Given the description of an element on the screen output the (x, y) to click on. 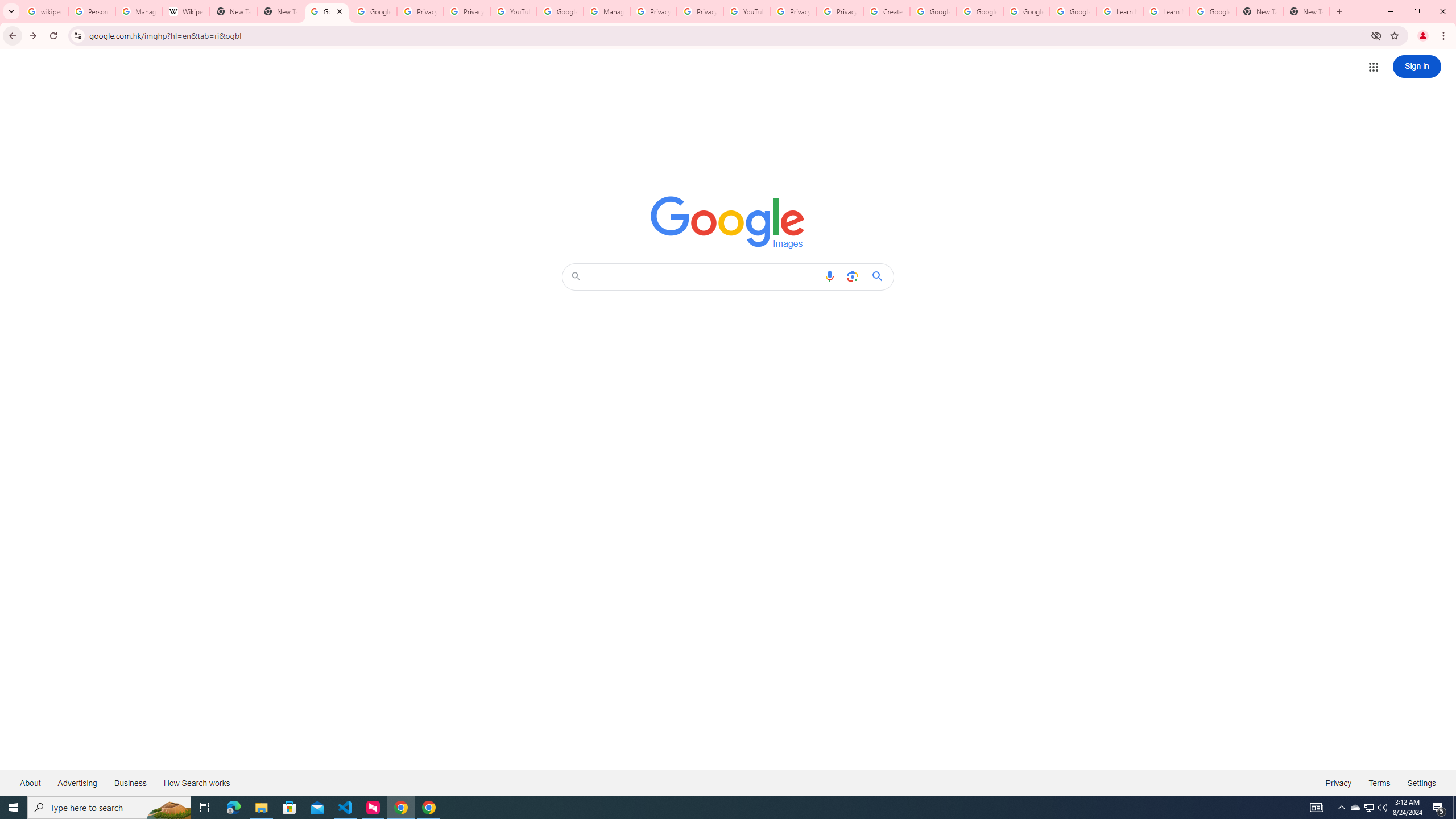
How Search works (196, 782)
Business (129, 782)
Google Images (326, 11)
Google Account Help (1026, 11)
